Given the description of an element on the screen output the (x, y) to click on. 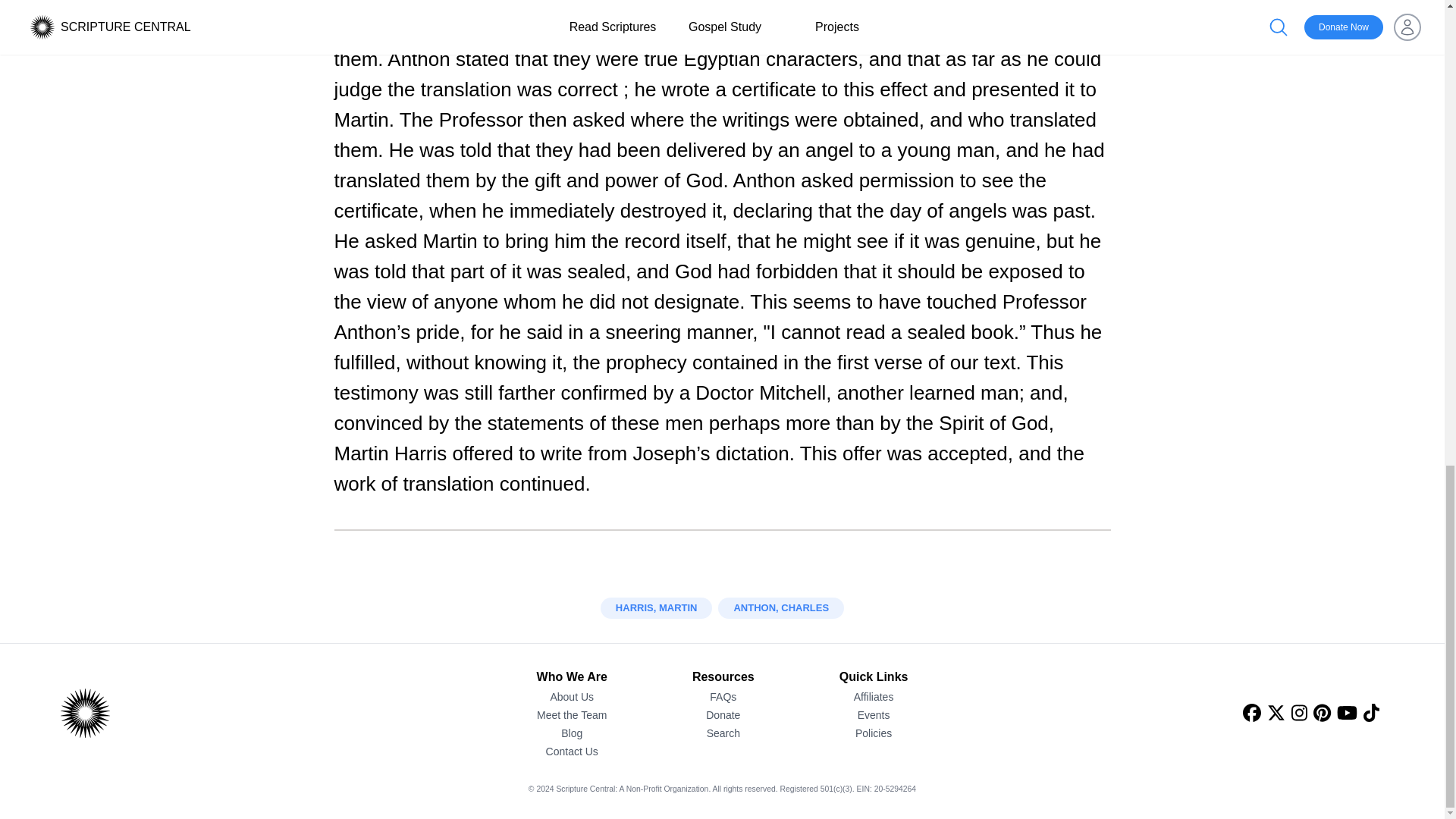
Blog (571, 732)
FAQs (723, 695)
Policies (873, 732)
Donate (722, 713)
Events (873, 713)
Search (722, 732)
Meet the Team (572, 713)
Contact Us (572, 750)
About Us (572, 695)
Affiliates (873, 695)
